Given the description of an element on the screen output the (x, y) to click on. 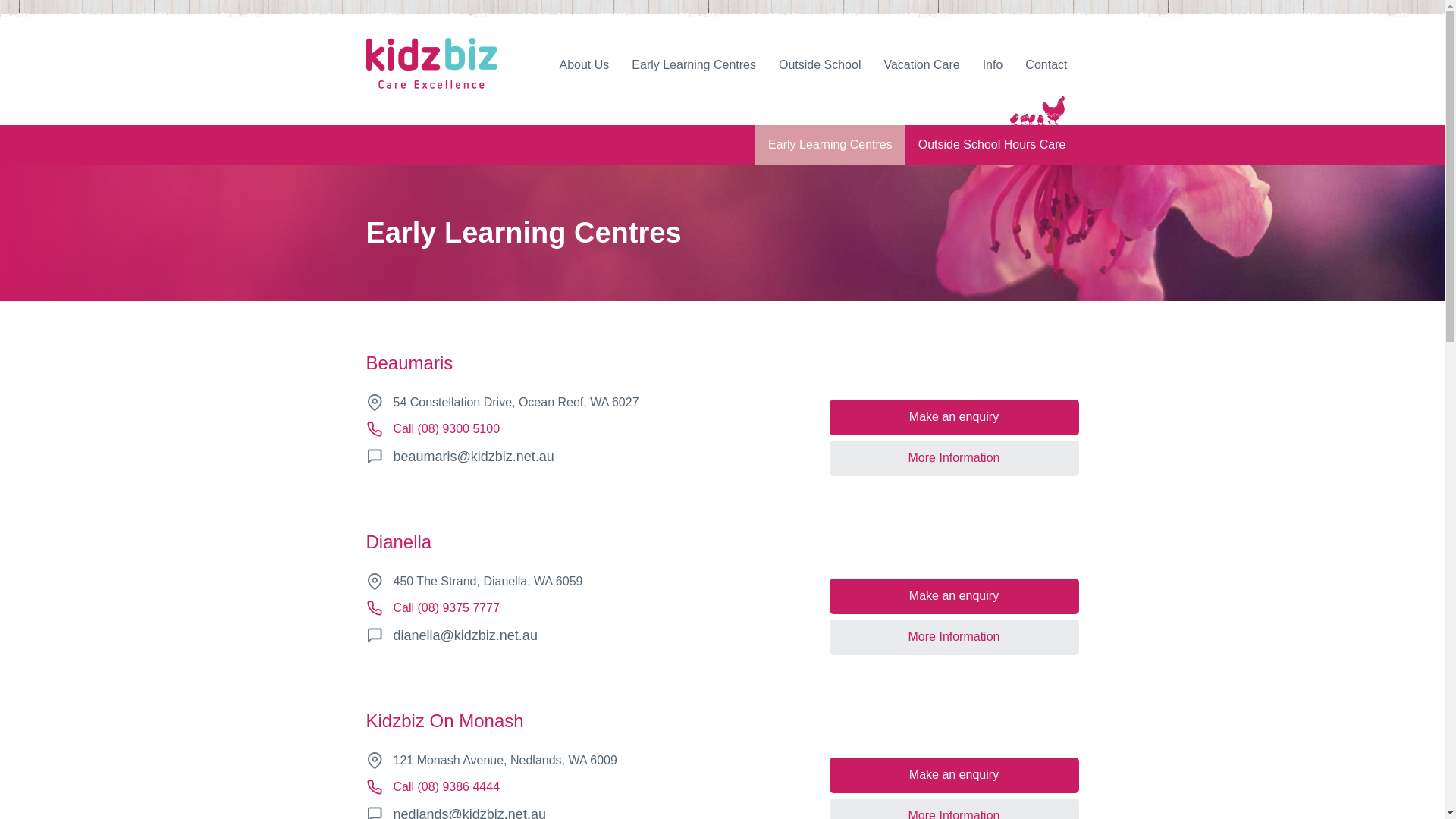
Make an enquiry Element type: text (954, 775)
More Information Element type: text (954, 637)
Make an enquiry Element type: text (954, 596)
Vacation Care Element type: text (921, 64)
Call (08) 9300 5100 Element type: text (445, 428)
Early Learning Centres Element type: text (830, 144)
Call (08) 9375 7777 Element type: text (445, 607)
Outside School Hours Care Element type: text (992, 144)
Make an enquiry Element type: text (954, 417)
dianella@kidzbiz.net.au Element type: text (464, 635)
Call (08) 9386 4444 Element type: text (445, 786)
beaumaris@kidzbiz.net.au Element type: text (472, 456)
More Information Element type: text (954, 458)
